Given the description of an element on the screen output the (x, y) to click on. 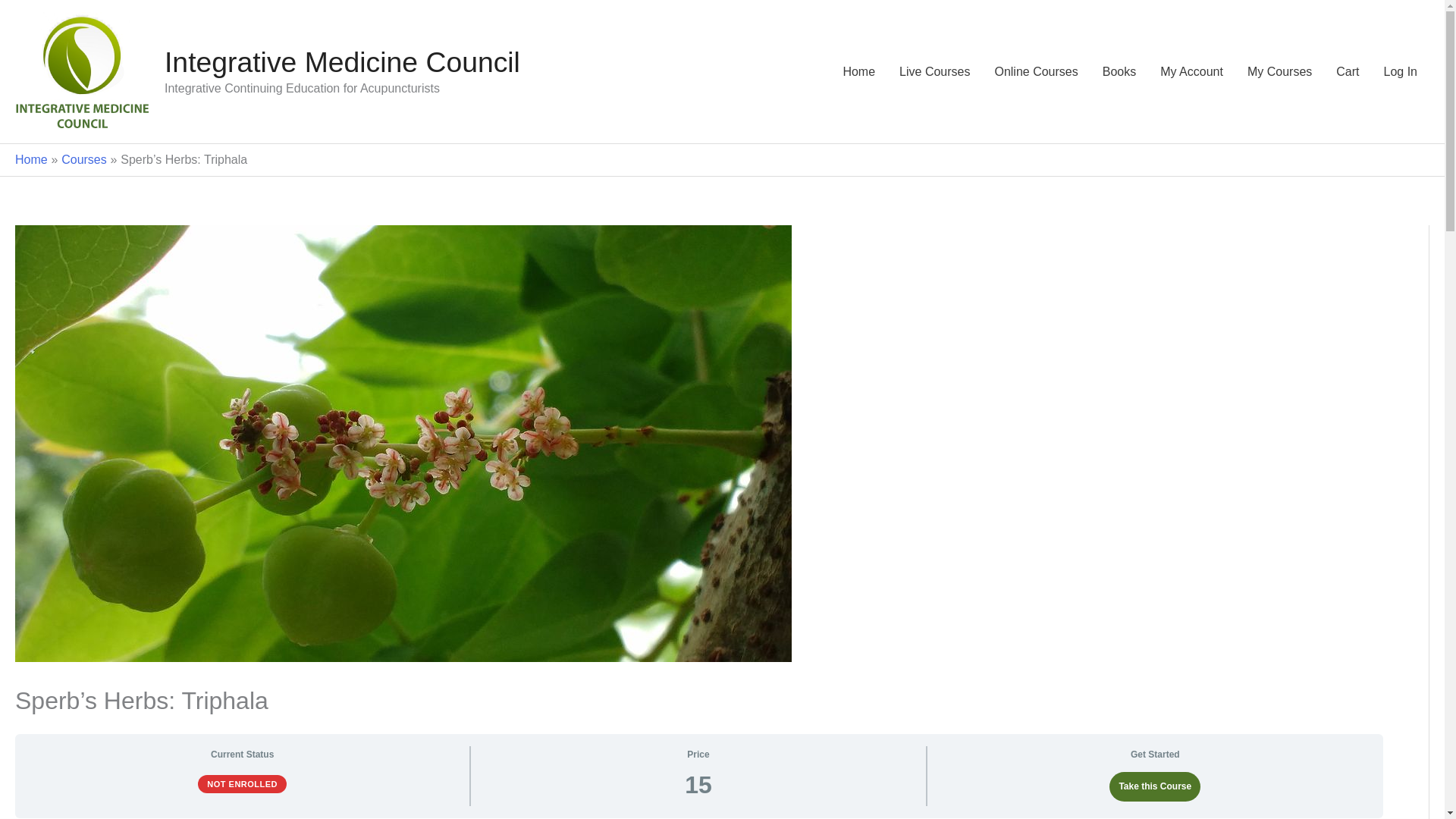
Courses (83, 159)
Log In (1400, 70)
Live Courses (933, 70)
Home (857, 70)
My Courses (1278, 70)
Integrative Medicine Council (341, 61)
Books (1119, 70)
Take this Course (1154, 786)
My Account (1191, 70)
Home (31, 159)
